Given the description of an element on the screen output the (x, y) to click on. 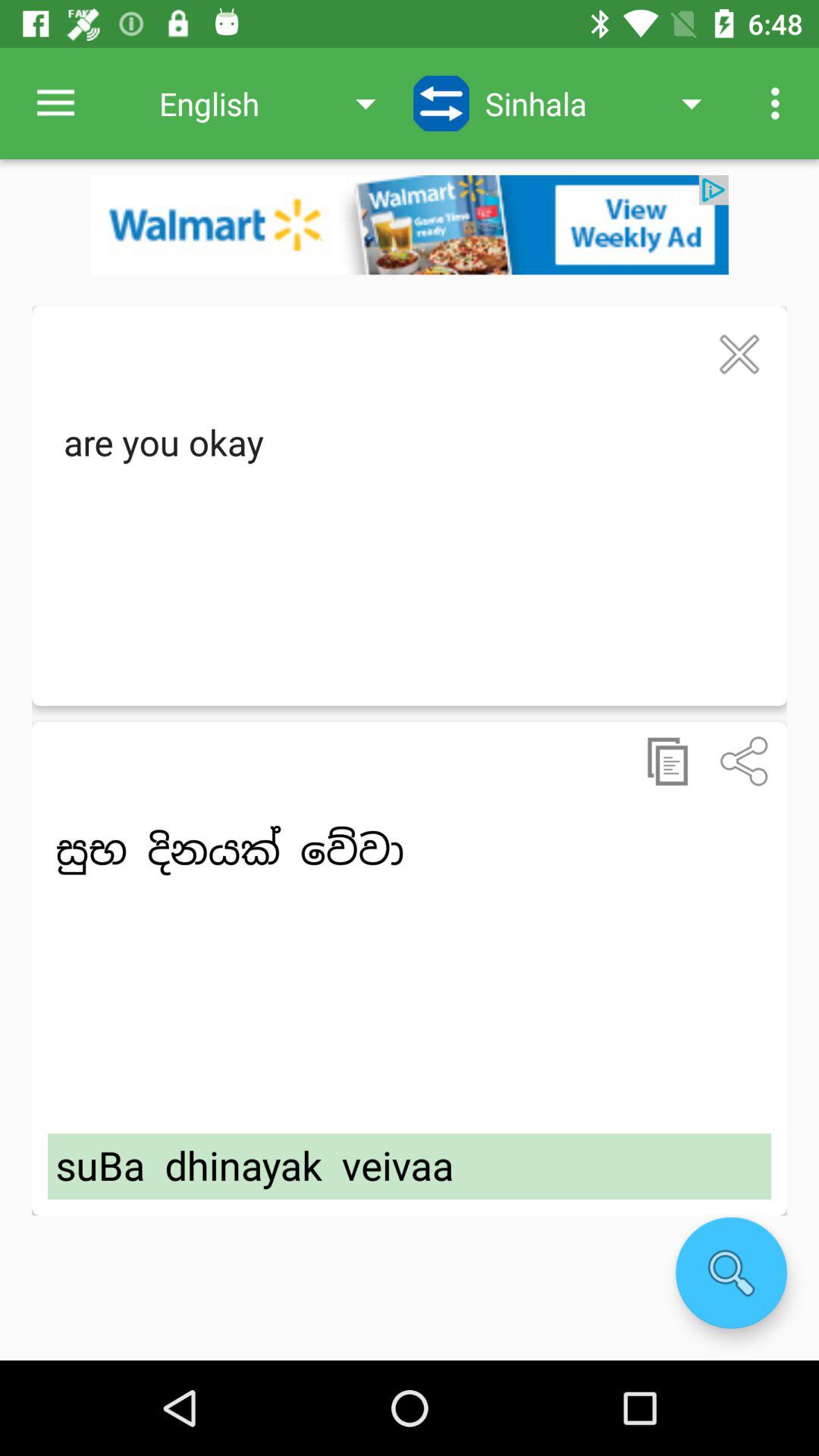
select the icon to the right of sinhala (779, 103)
